Given the description of an element on the screen output the (x, y) to click on. 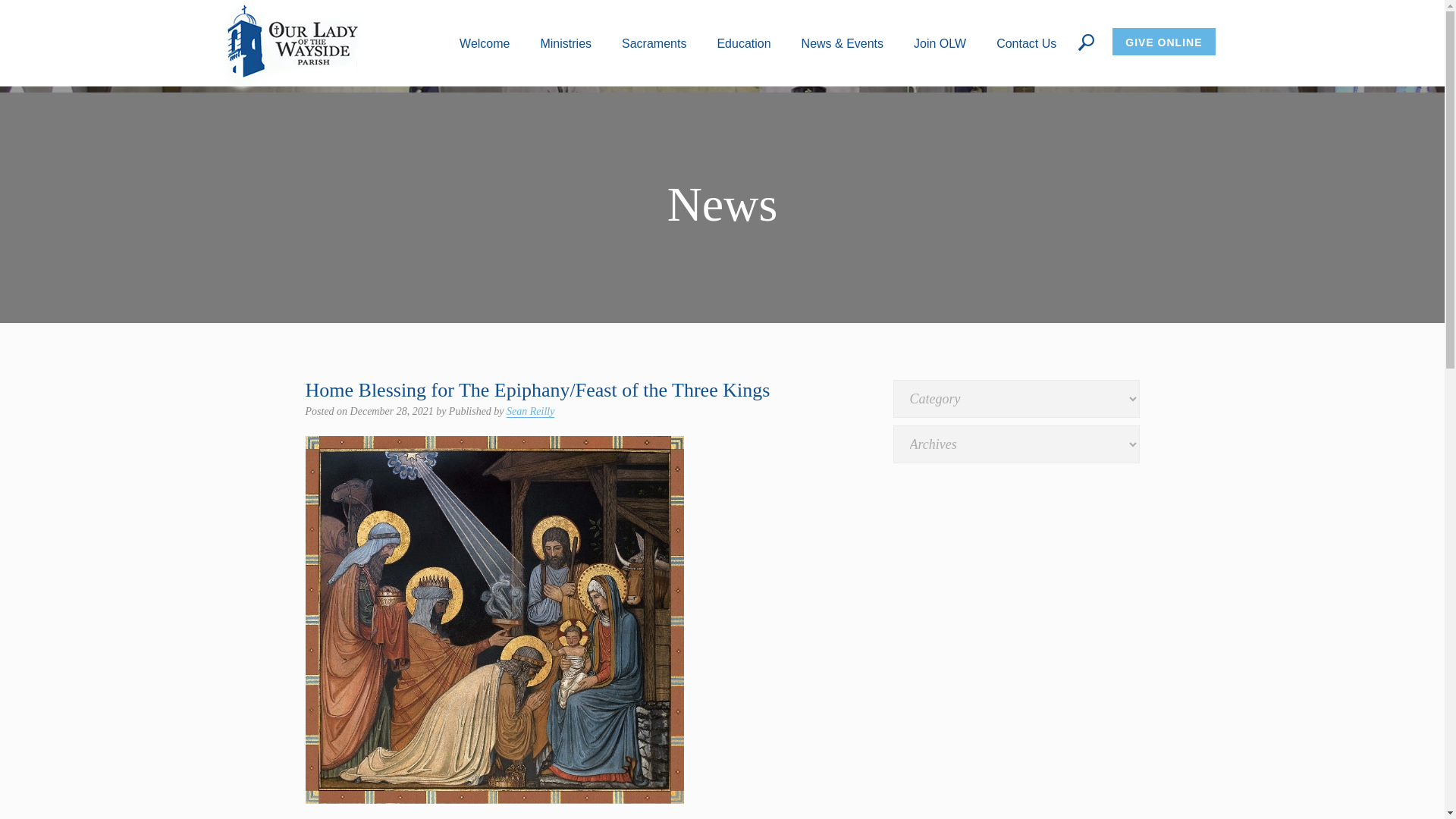
Posts by Sean Reilly (530, 411)
Join OLW (940, 42)
GIVE ONLINE (1163, 41)
Ministries (565, 42)
Sacraments (653, 42)
Education (743, 42)
Welcome (484, 42)
Contact Us (1026, 42)
